Given the description of an element on the screen output the (x, y) to click on. 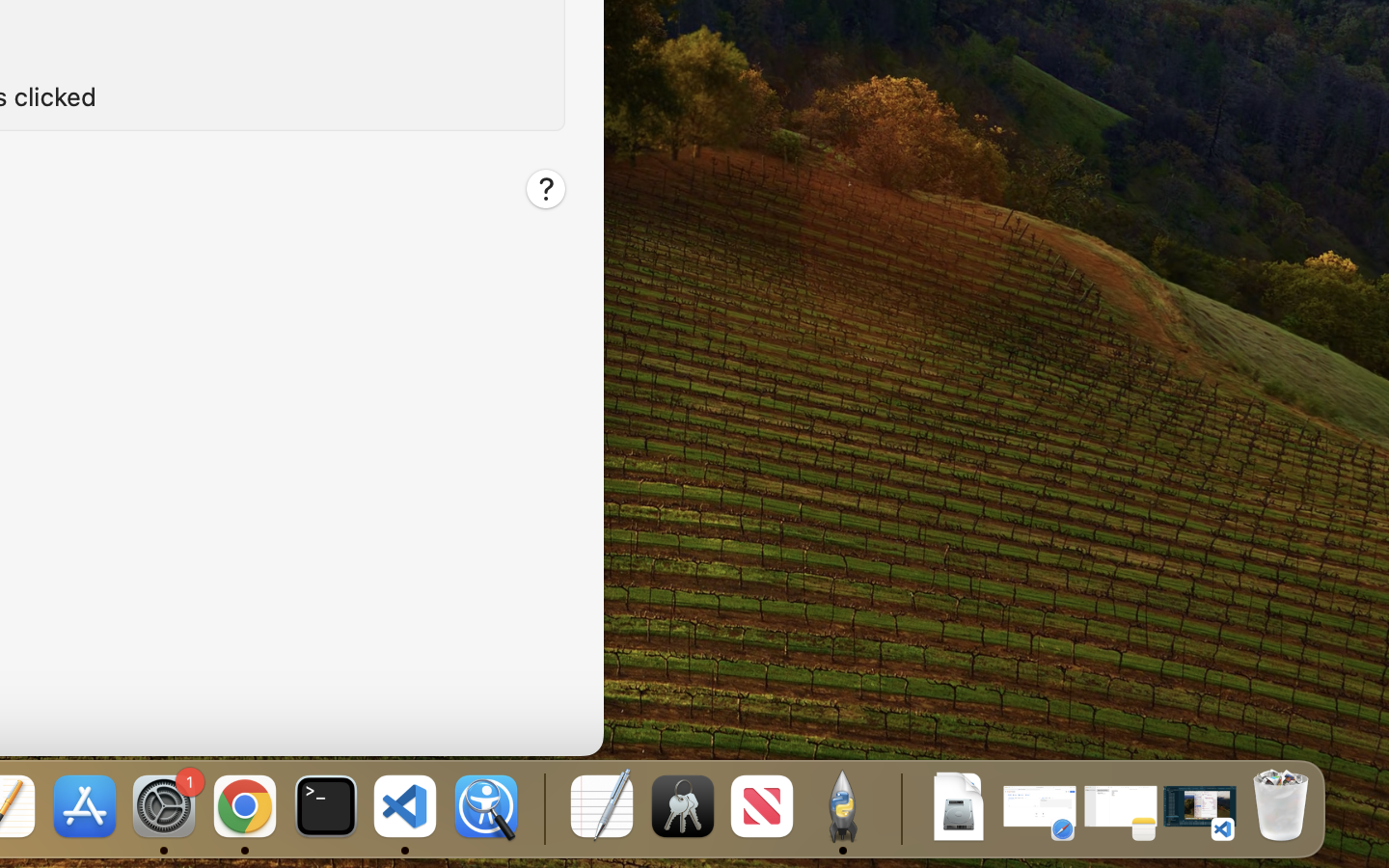
0.4285714328289032 Element type: AXDockItem (541, 807)
